Given the description of an element on the screen output the (x, y) to click on. 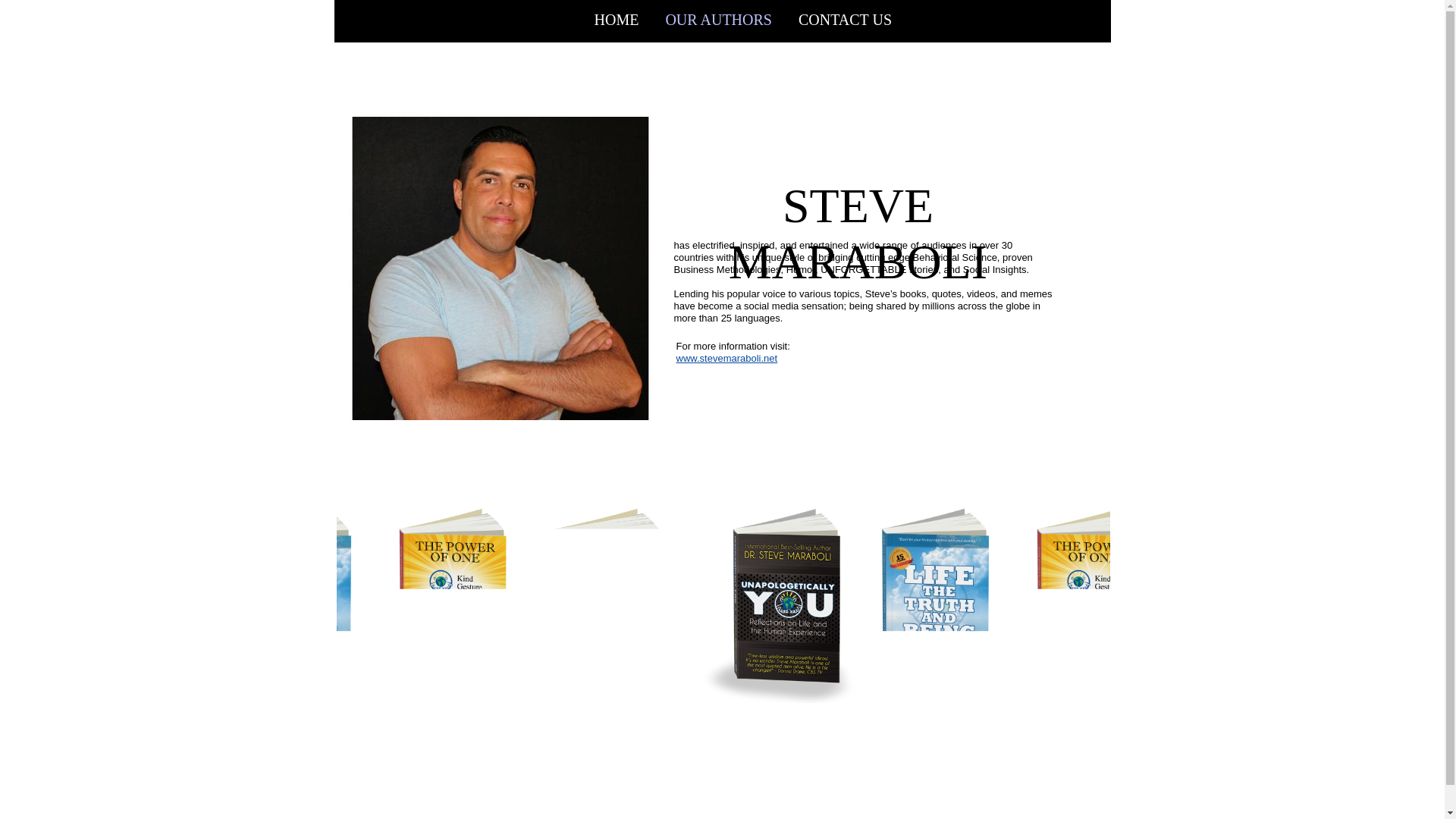
HOME Element type: text (623, 24)
OUR AUTHORS Element type: text (718, 24)
CONTACT US Element type: text (838, 24)
www.stevemaraboli.net Element type: text (727, 358)
